Given the description of an element on the screen output the (x, y) to click on. 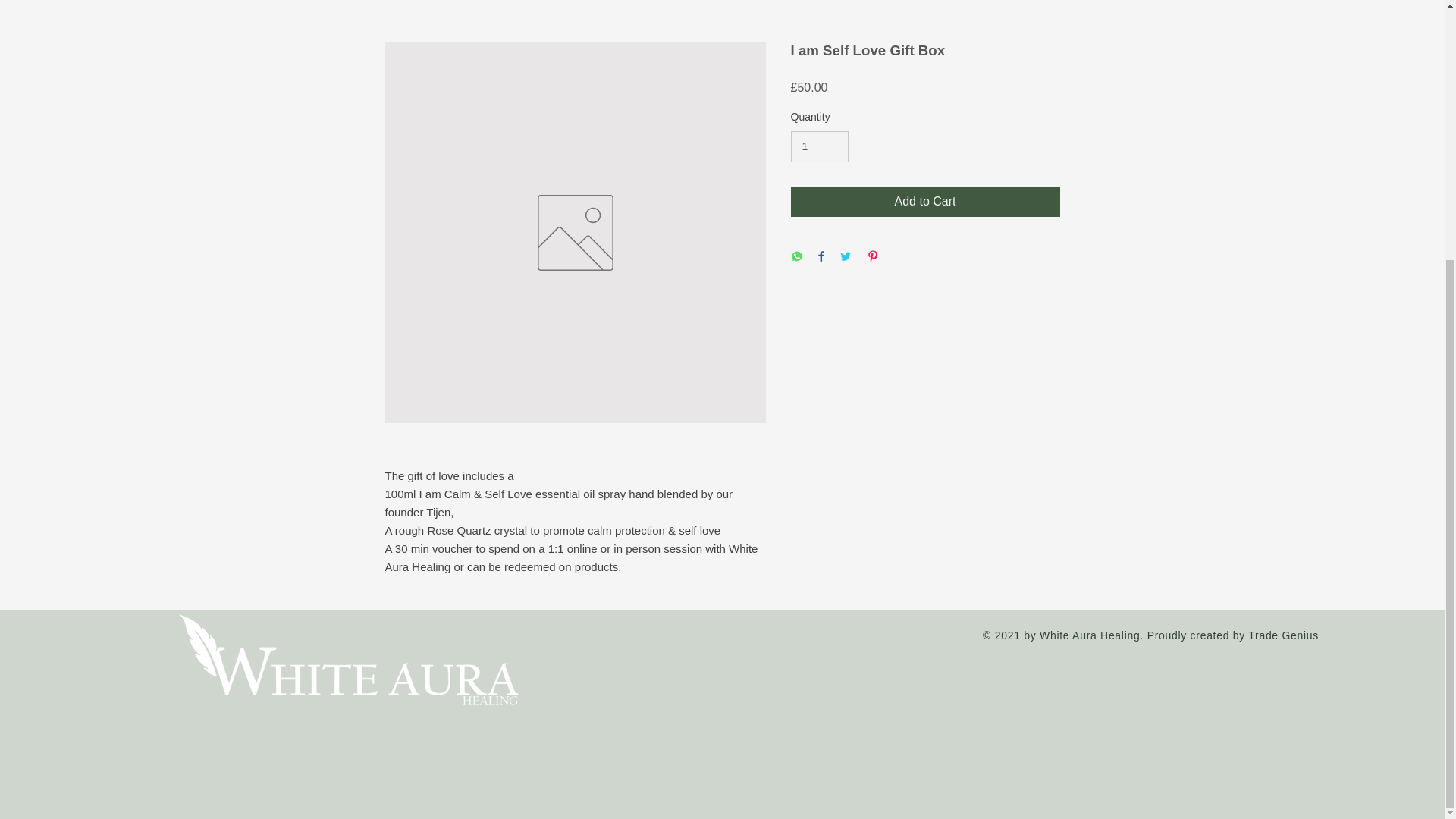
1 (818, 146)
Add to Cart (924, 201)
